Given the description of an element on the screen output the (x, y) to click on. 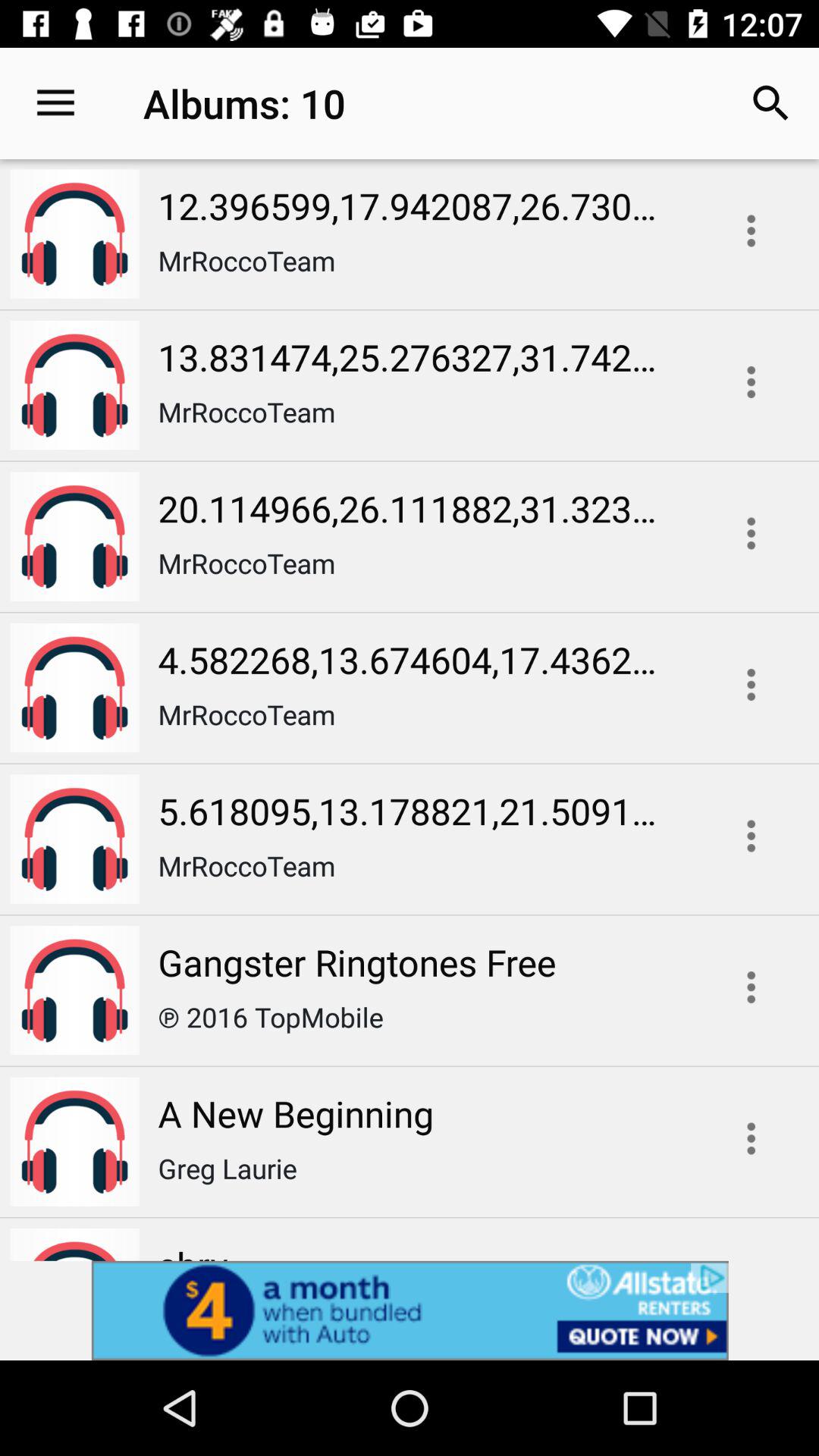
more info (750, 533)
